Given the description of an element on the screen output the (x, y) to click on. 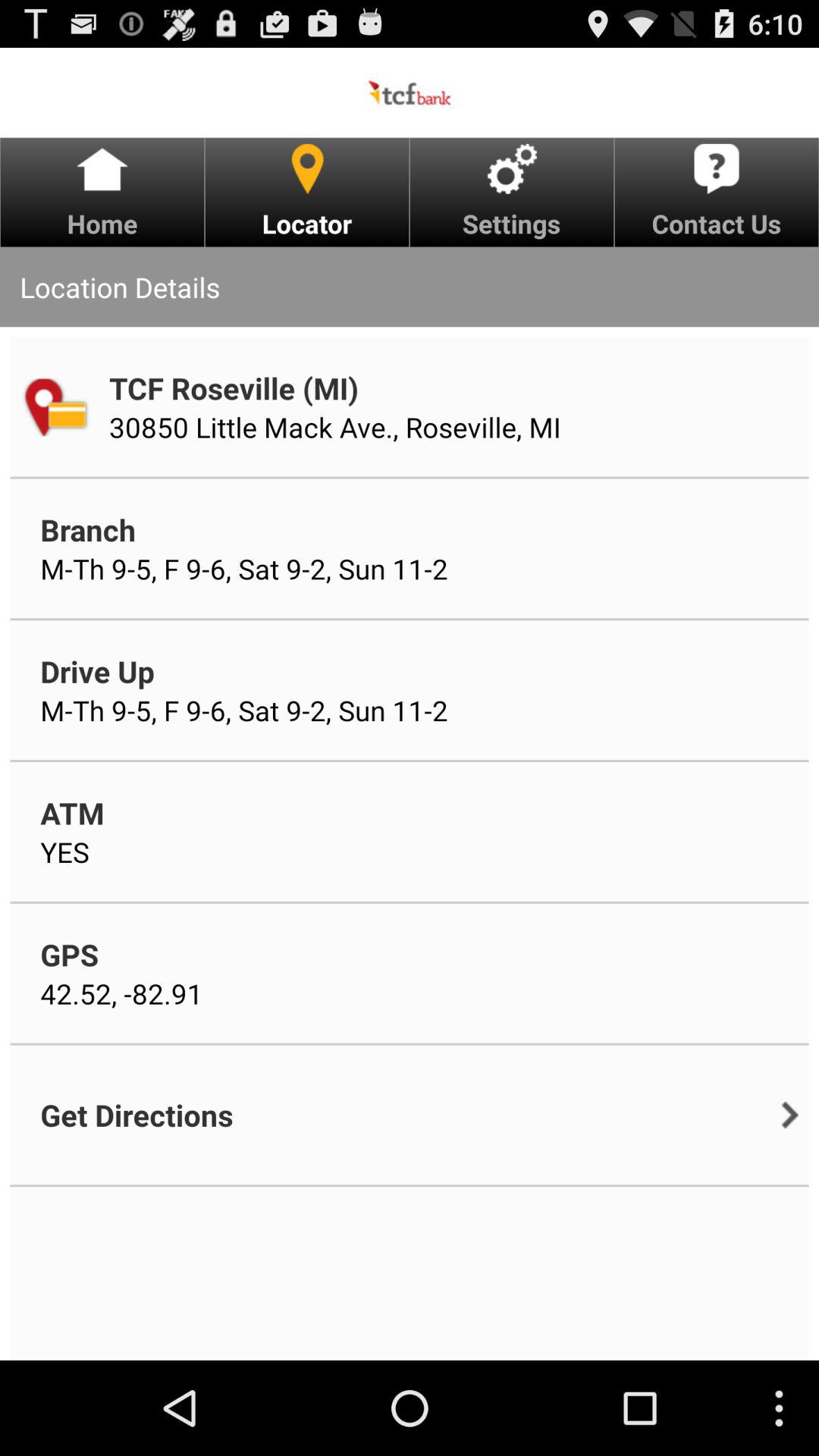
choose item above branch app (334, 426)
